Given the description of an element on the screen output the (x, y) to click on. 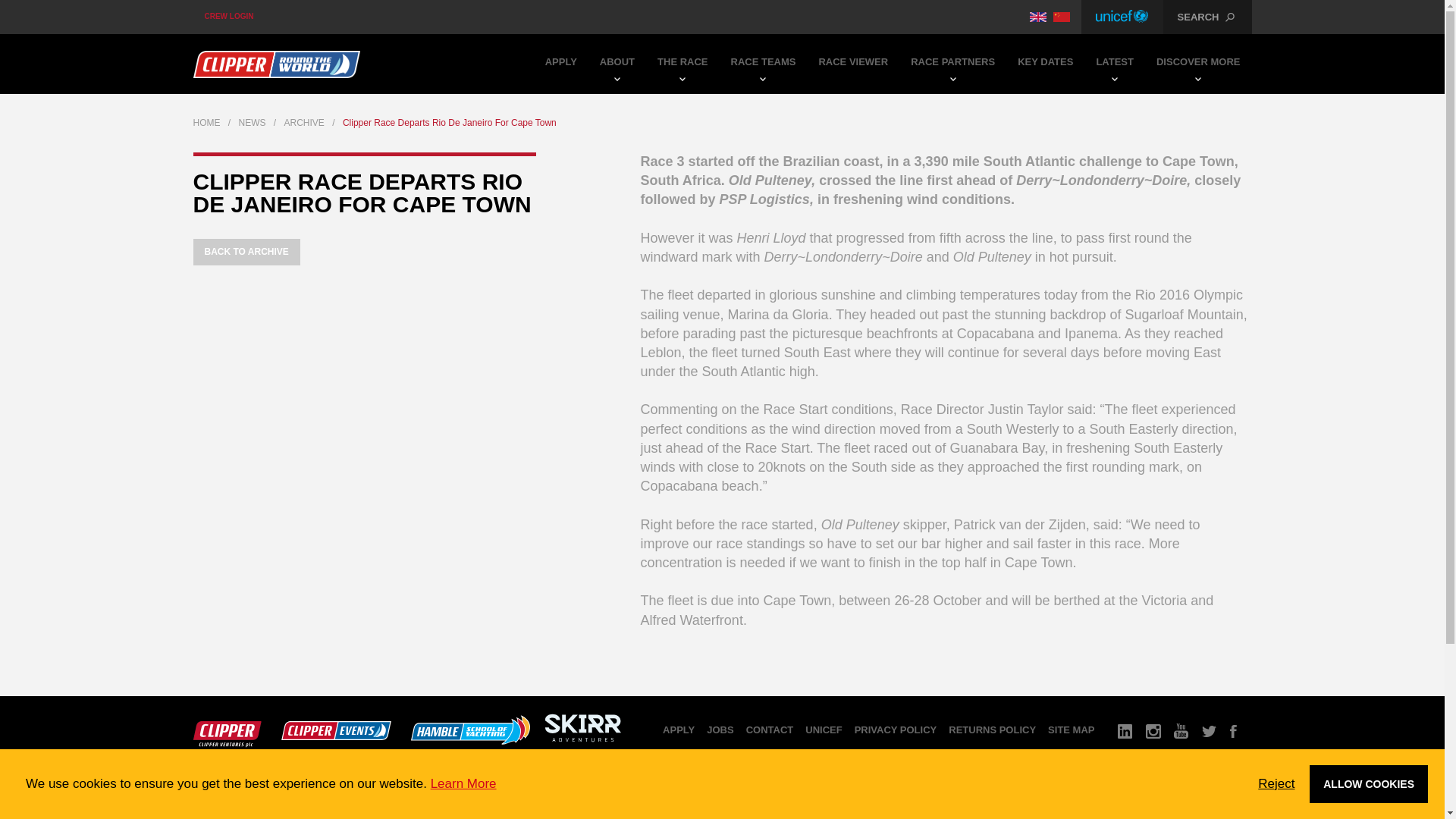
English (1037, 17)
Unicef (1122, 17)
Clipper Round The World (275, 64)
English (1037, 17)
Chinese (1061, 17)
ABOUT (617, 64)
Chinese (1061, 17)
Chinese (1061, 17)
English (1037, 17)
THE RACE (682, 64)
